Given the description of an element on the screen output the (x, y) to click on. 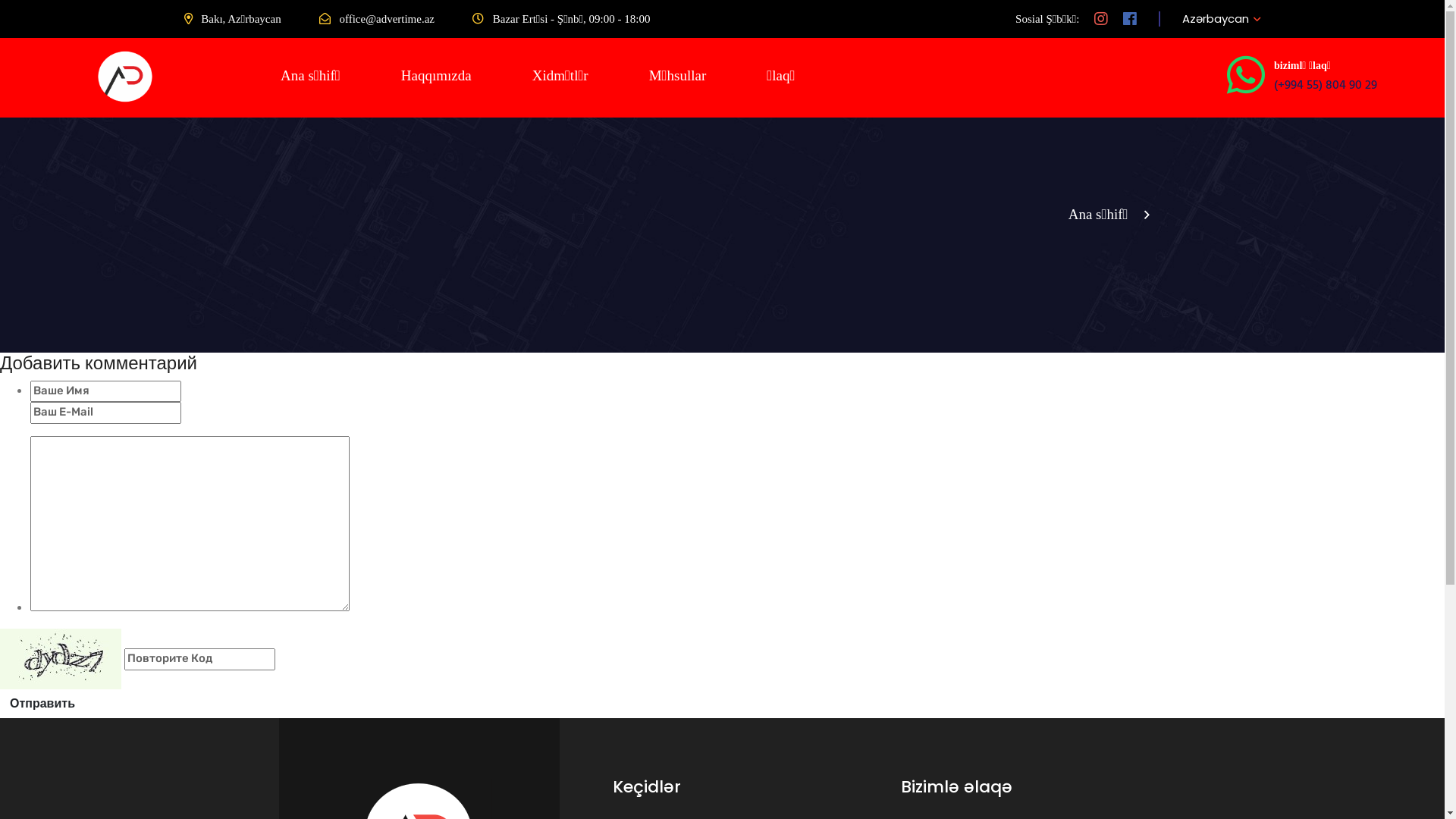
(+994 55) 804 90 29 Element type: text (1325, 85)
